Given the description of an element on the screen output the (x, y) to click on. 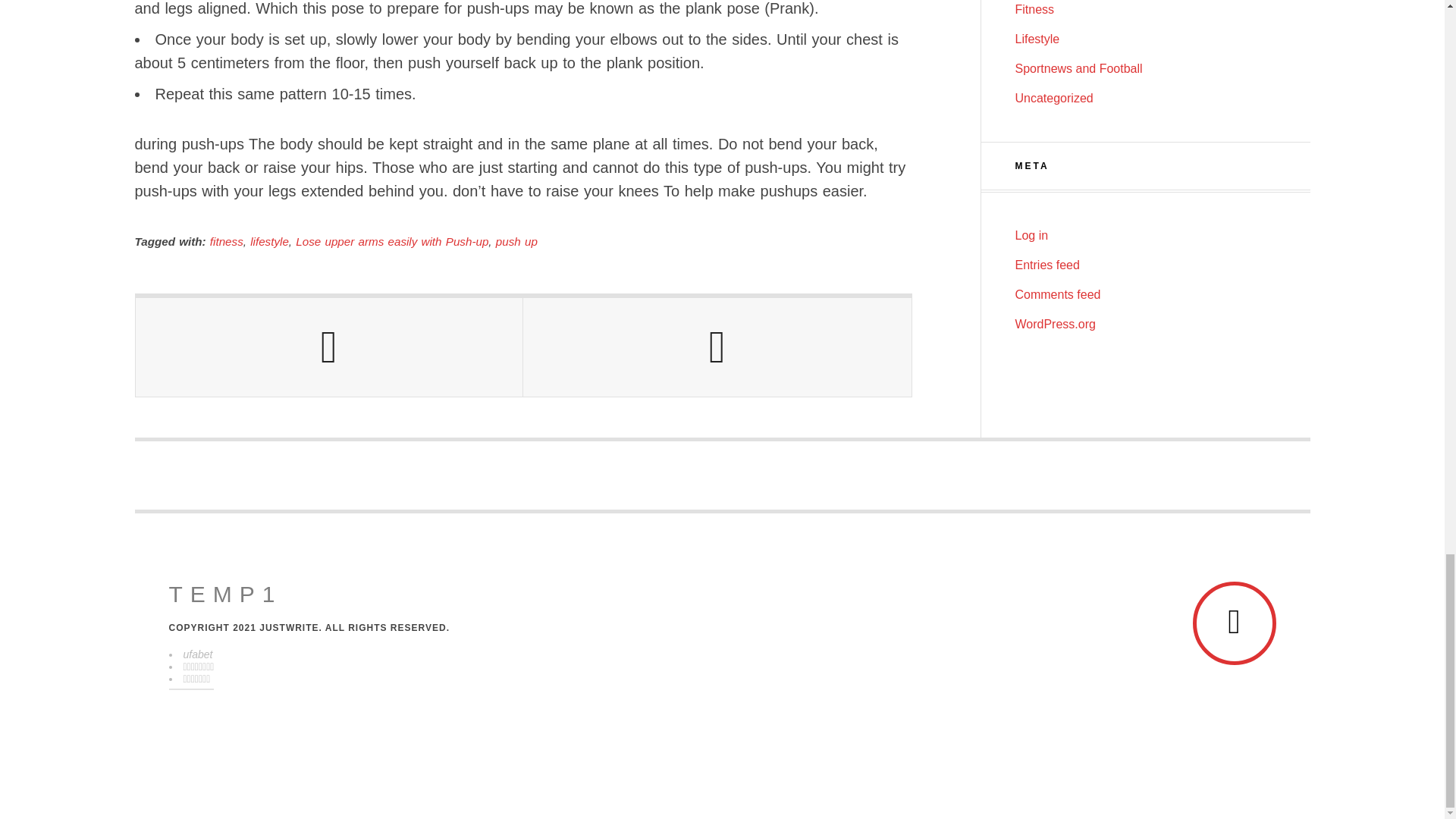
lifestyle (269, 241)
caymanislandshospital.com (225, 594)
Previous Post (328, 347)
Fitness (1034, 9)
Next Post (716, 347)
Lose upper arms easily with Push-up (391, 241)
push up (516, 241)
fitness (226, 241)
Lifestyle (1036, 38)
